Given the description of an element on the screen output the (x, y) to click on. 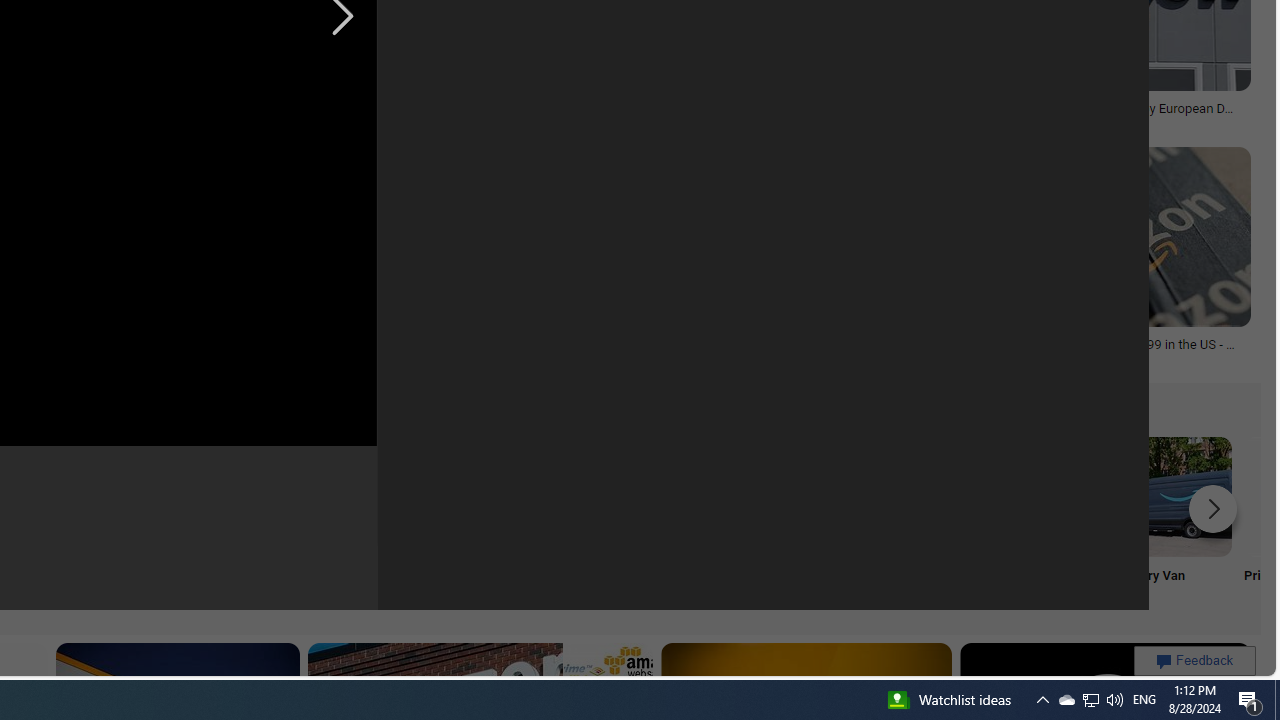
Amazon App Store Download App Store Download (1039, 521)
Amazon Prime Shopping Online Prime Shopping Online (380, 521)
Amazon Delivery Van Delivery Van (1171, 521)
Amazon Prime Shopping Online (380, 496)
Amazon Official Website Official Website (907, 521)
Amazon Online Shopping Homepage Online Shopping Homepage (248, 521)
The Verge (588, 123)
aiophotoz.com (777, 121)
latimes.com (454, 359)
App Store Download (1039, 521)
Prime Label (511, 521)
